Given the description of an element on the screen output the (x, y) to click on. 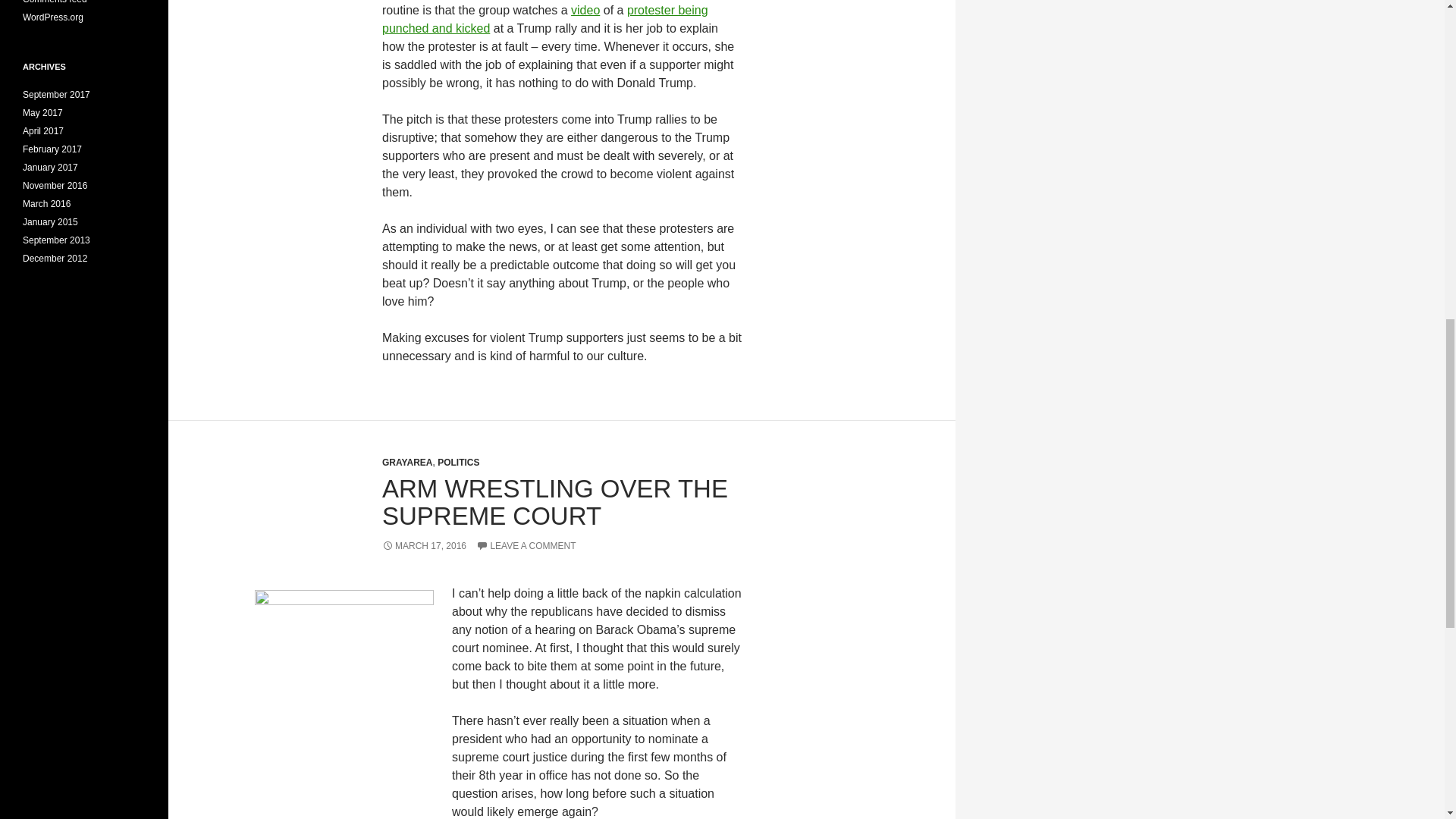
MARCH 17, 2016 (423, 545)
September 2017 (56, 94)
WordPress.org (52, 17)
protester being punched and kicked (544, 19)
POLITICS (458, 462)
ARM WRESTLING OVER THE SUPREME COURT (554, 502)
LEAVE A COMMENT (525, 545)
video (584, 10)
May 2017 (42, 112)
April 2017 (43, 131)
GRAYAREA (406, 462)
Comments feed (55, 2)
